Given the description of an element on the screen output the (x, y) to click on. 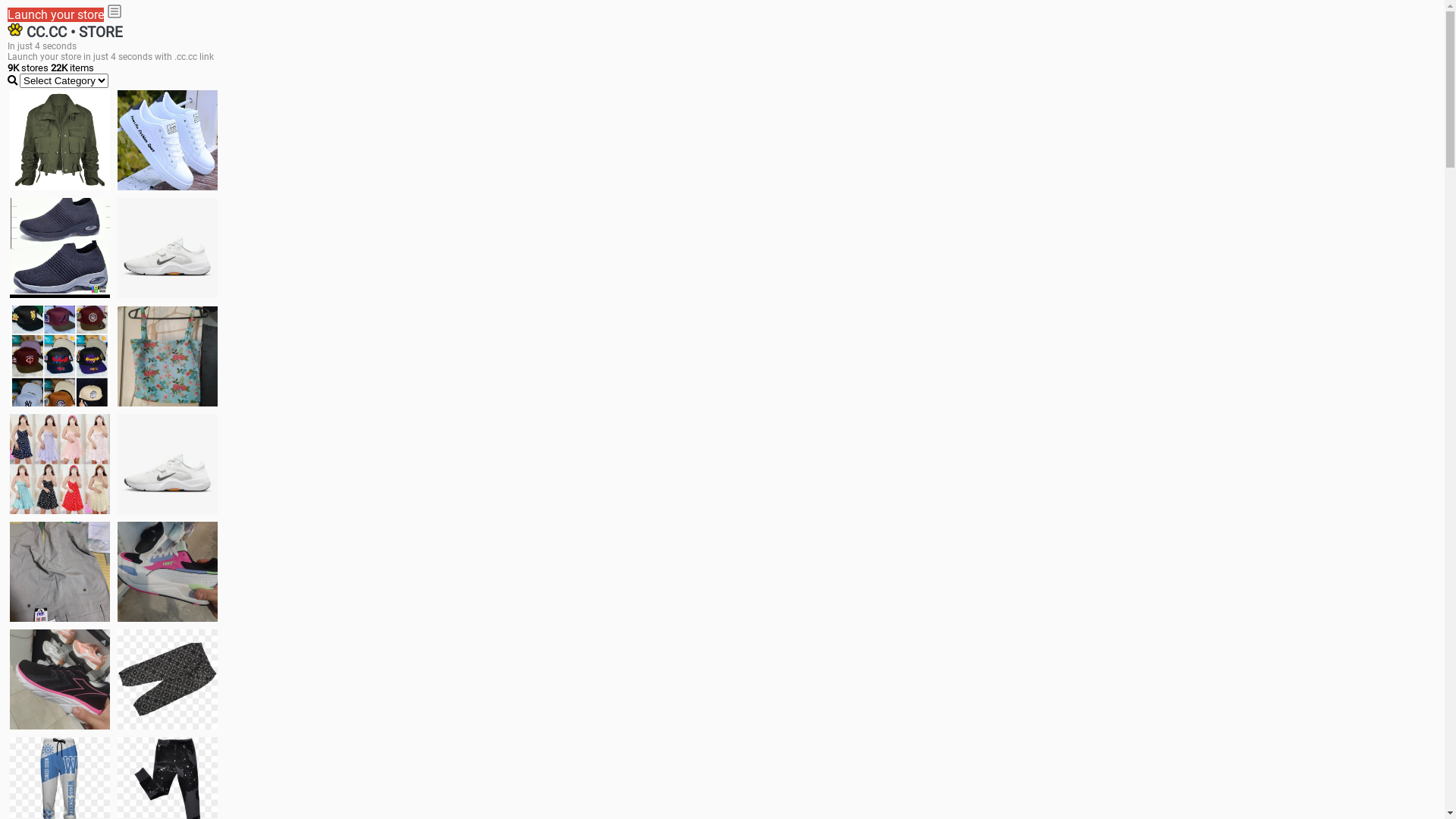
Dress/square nect top Element type: hover (59, 464)
Launch your store Element type: text (55, 14)
Shoes for boys Element type: hover (167, 247)
Short pant Element type: hover (167, 679)
jacket Element type: hover (59, 140)
Things we need Element type: hover (59, 355)
Ukay cloth Element type: hover (167, 356)
shoes for boys Element type: hover (59, 247)
Zapatillas Element type: hover (59, 679)
Zapatillas pumas Element type: hover (167, 571)
white shoes Element type: hover (167, 140)
Shoes Element type: hover (167, 464)
